Given the description of an element on the screen output the (x, y) to click on. 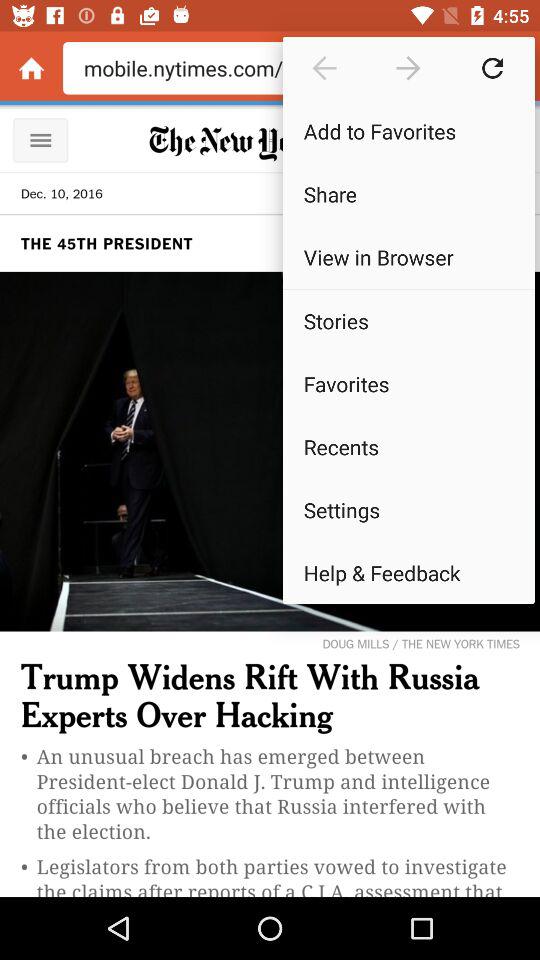
turn on the item below the favorites icon (408, 446)
